Given the description of an element on the screen output the (x, y) to click on. 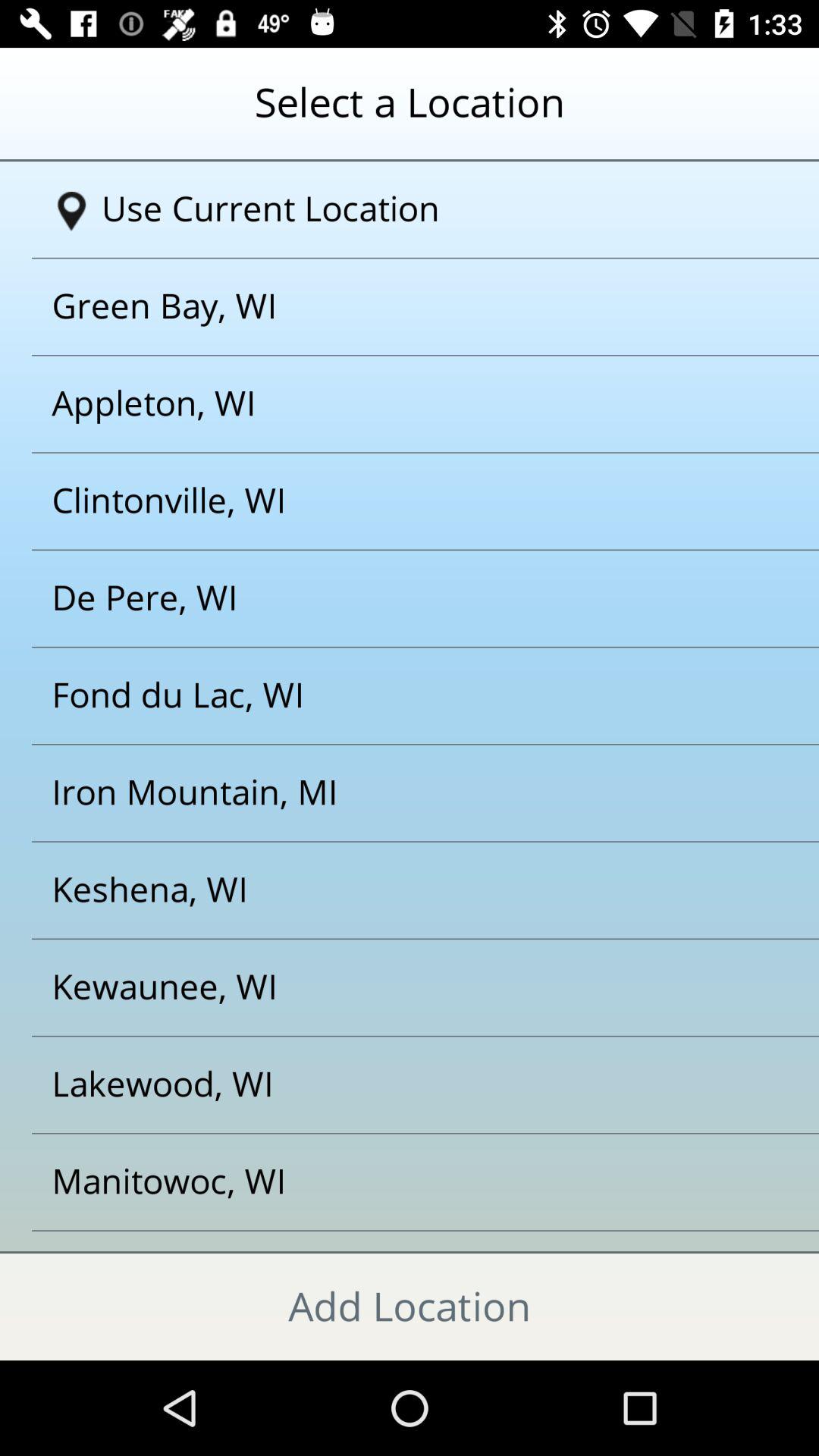
select clintonville wi above the appleton wi (390, 501)
sixth option in the list (390, 695)
text below clintonvillewi (390, 598)
select the text manitowocwi (390, 1182)
select the locator icon (71, 211)
select the appleton wi in second row (390, 403)
